Given the description of an element on the screen output the (x, y) to click on. 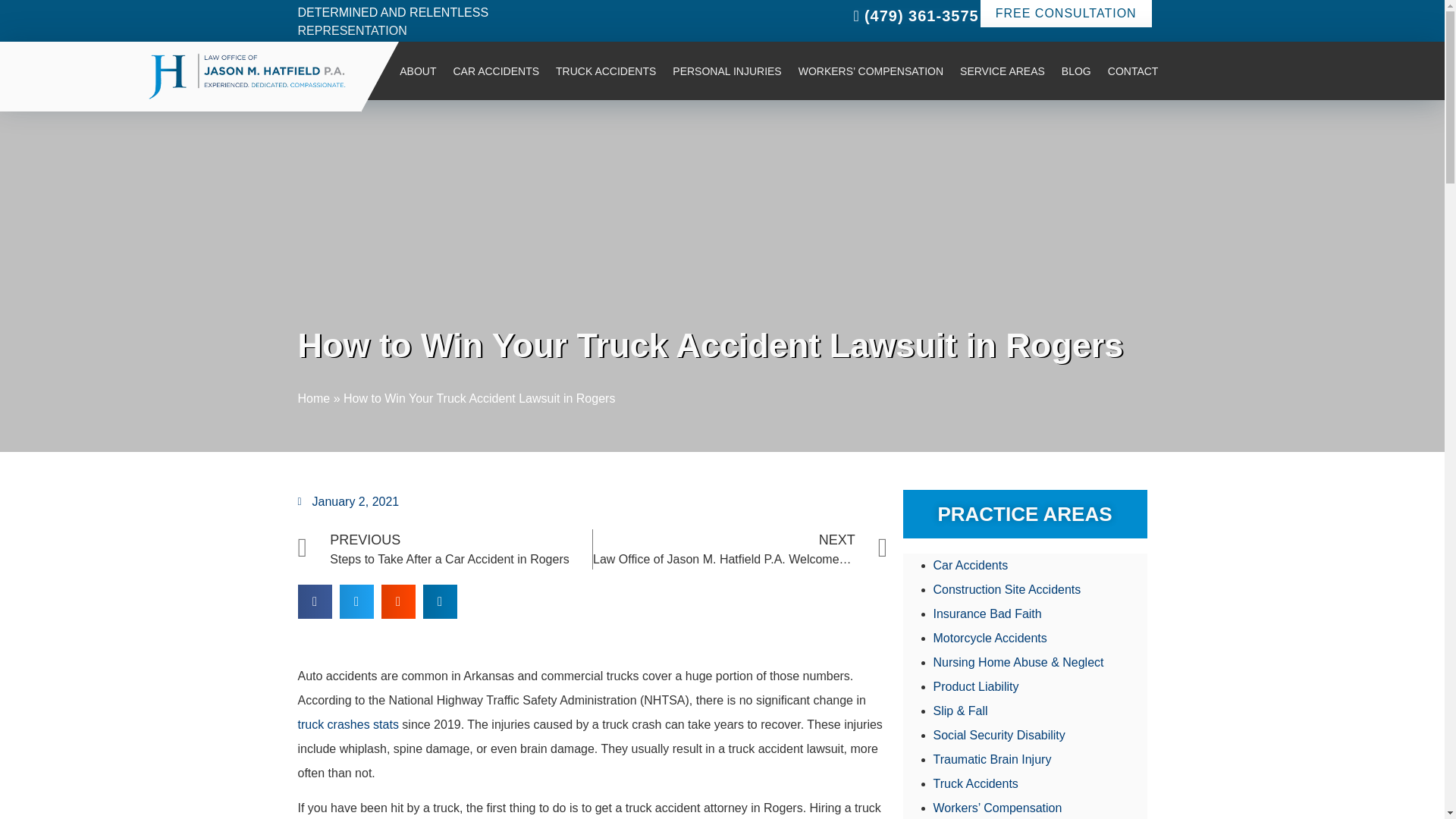
ABOUT (417, 71)
CAR ACCIDENTS (495, 71)
PERSONAL INJURIES (726, 71)
BLOG (1075, 71)
TRUCK ACCIDENTS (605, 71)
CONTACT (1133, 71)
FREE CONSULTATION (1065, 13)
SERVICE AREAS (1002, 71)
